Given the description of an element on the screen output the (x, y) to click on. 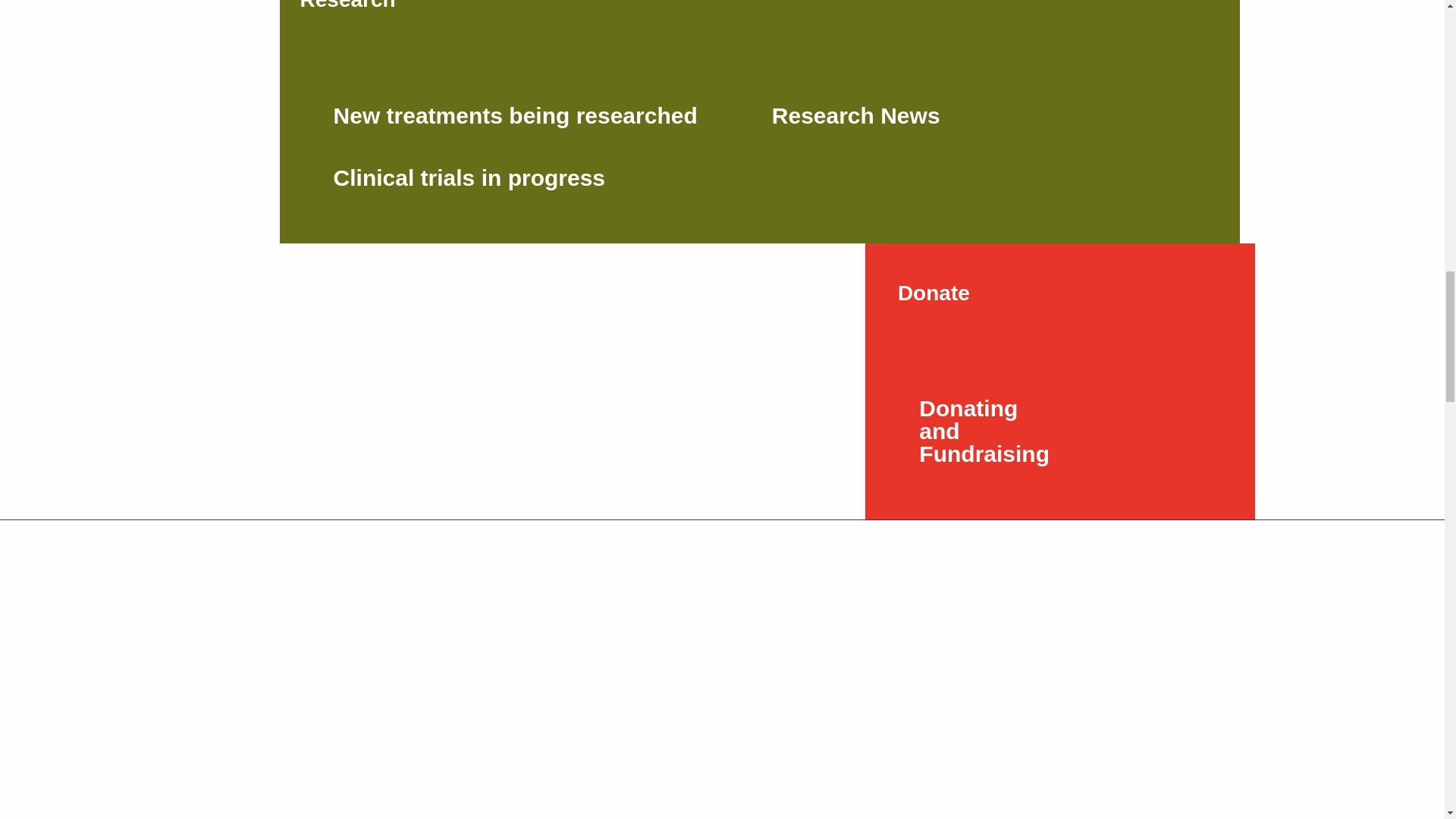
Research (347, 24)
Donate (932, 293)
Clinical trials in progress (540, 178)
New treatments being researched (540, 115)
Research News (979, 115)
